Given the description of an element on the screen output the (x, y) to click on. 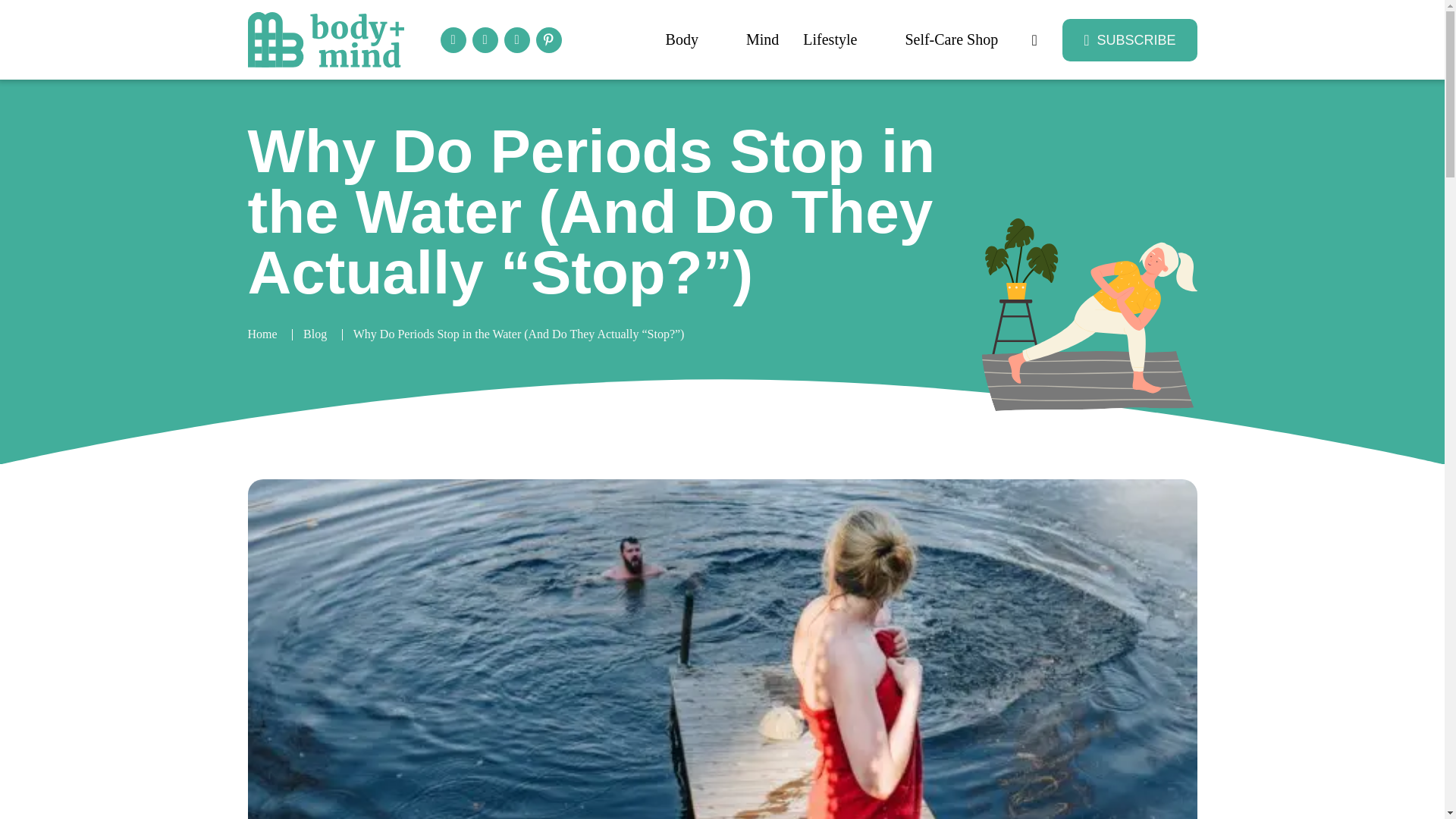
Home (261, 334)
Blog (314, 334)
SUBSCRIBE (1129, 39)
Self-Care Shop (951, 39)
Lifestyle (841, 39)
Body (693, 39)
Mind (761, 39)
